Given the description of an element on the screen output the (x, y) to click on. 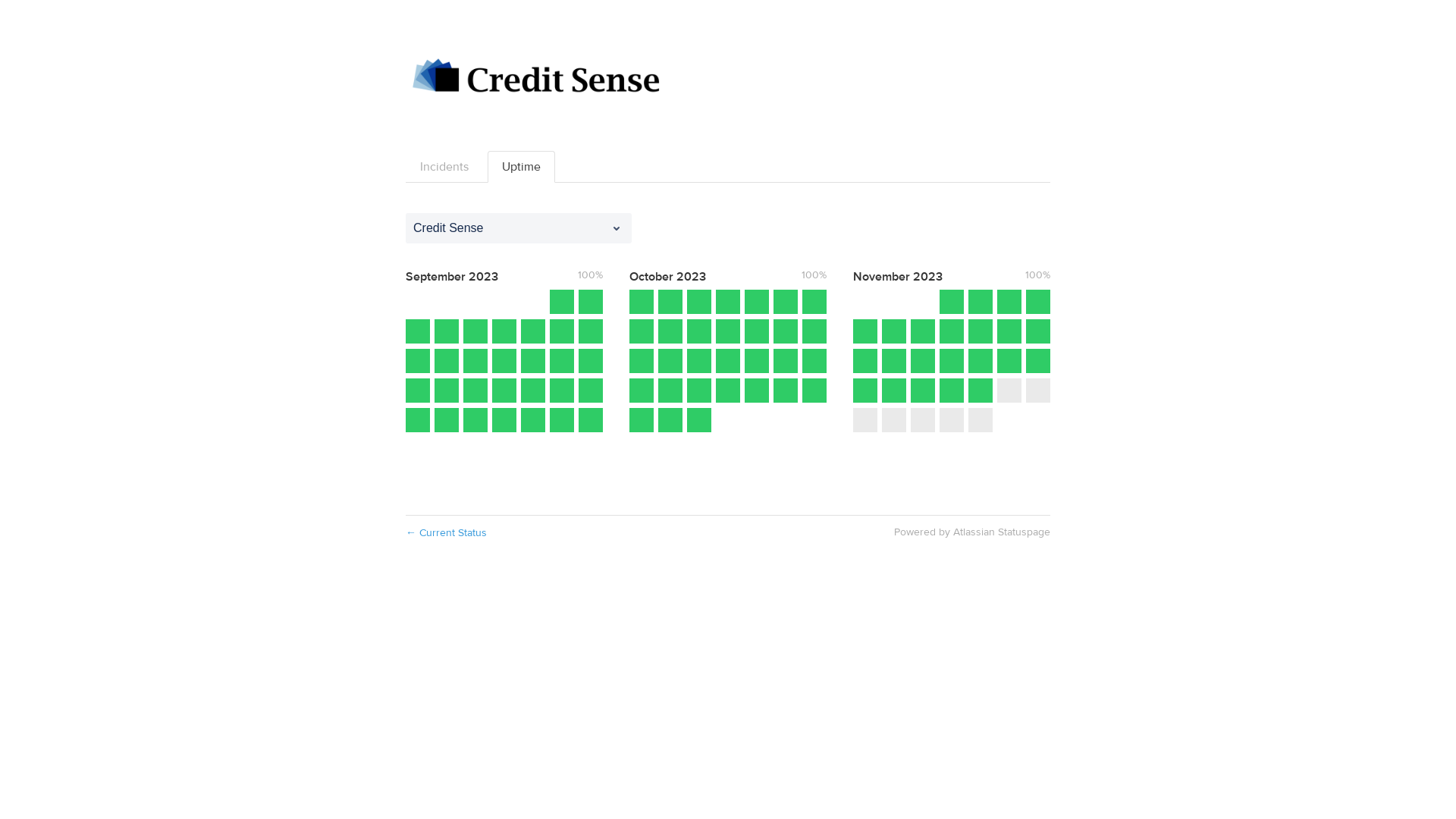
Incidents Element type: text (444, 166)
Uptime Element type: text (521, 166)
Powered by Atlassian Statuspage Element type: text (972, 532)
